Given the description of an element on the screen output the (x, y) to click on. 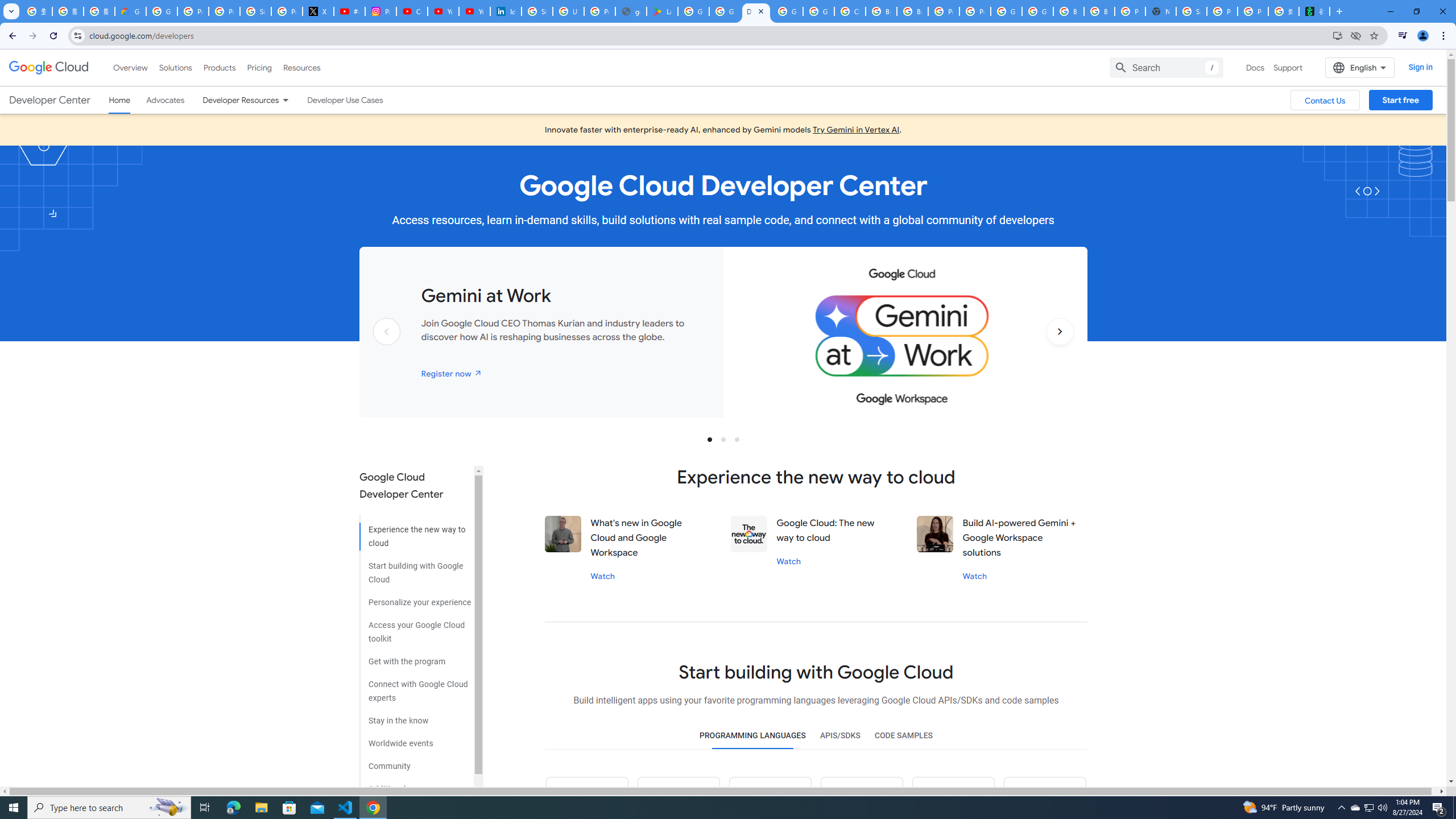
Dropdown menu for Developer Resources (285, 99)
Community (415, 762)
Docs (1254, 67)
Next slide (1059, 349)
Support (1288, 67)
Access your Google Cloud toolkit (415, 627)
Java icon (678, 798)
PROGRAMMING LANGUAGES (752, 735)
